Given the description of an element on the screen output the (x, y) to click on. 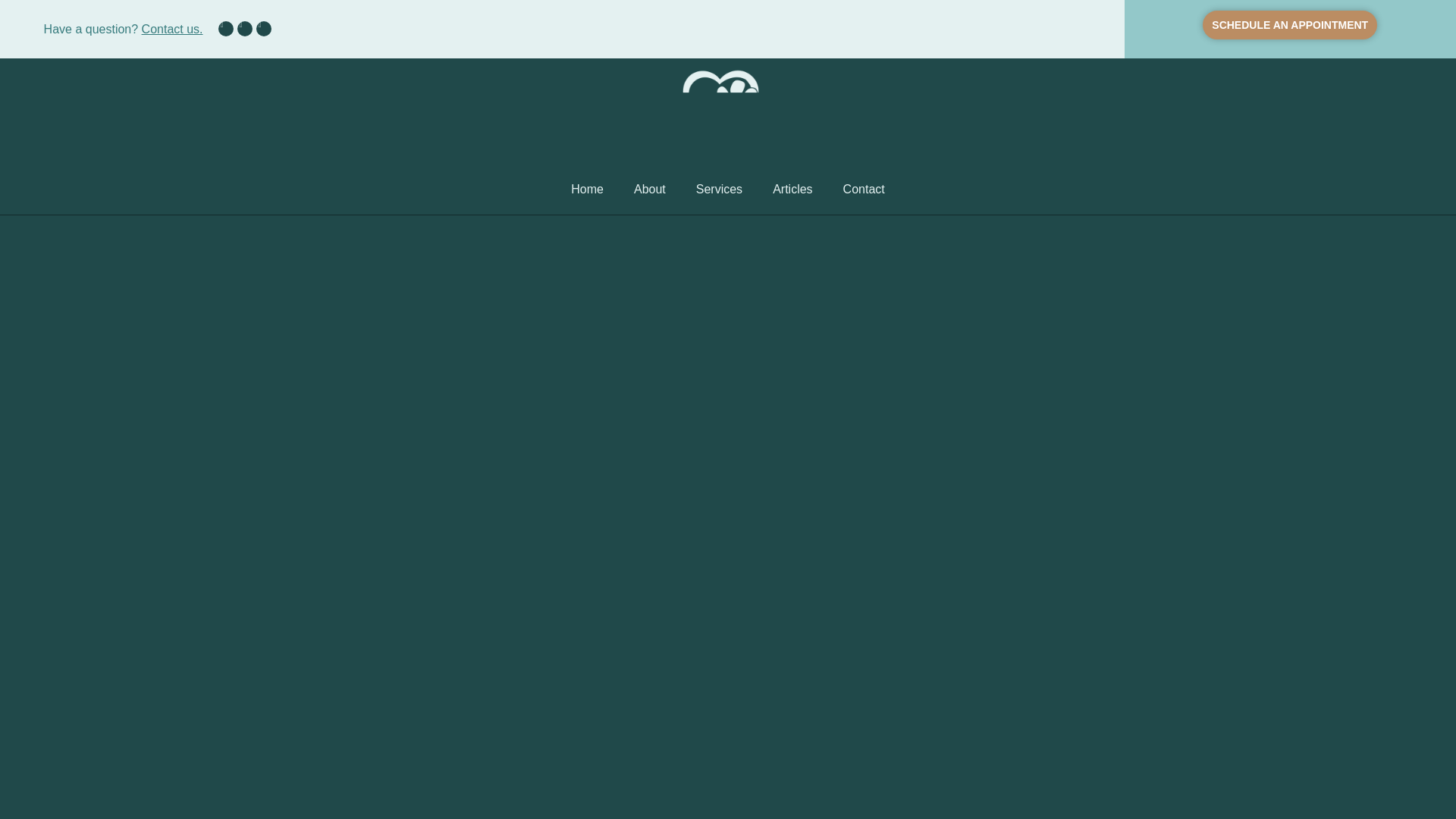
Services (719, 189)
SCHEDULE AN APPOINTMENT (1289, 24)
Contact (863, 189)
Have a question? Contact us. (123, 29)
About (649, 189)
Articles (792, 189)
Home (587, 189)
